Given the description of an element on the screen output the (x, y) to click on. 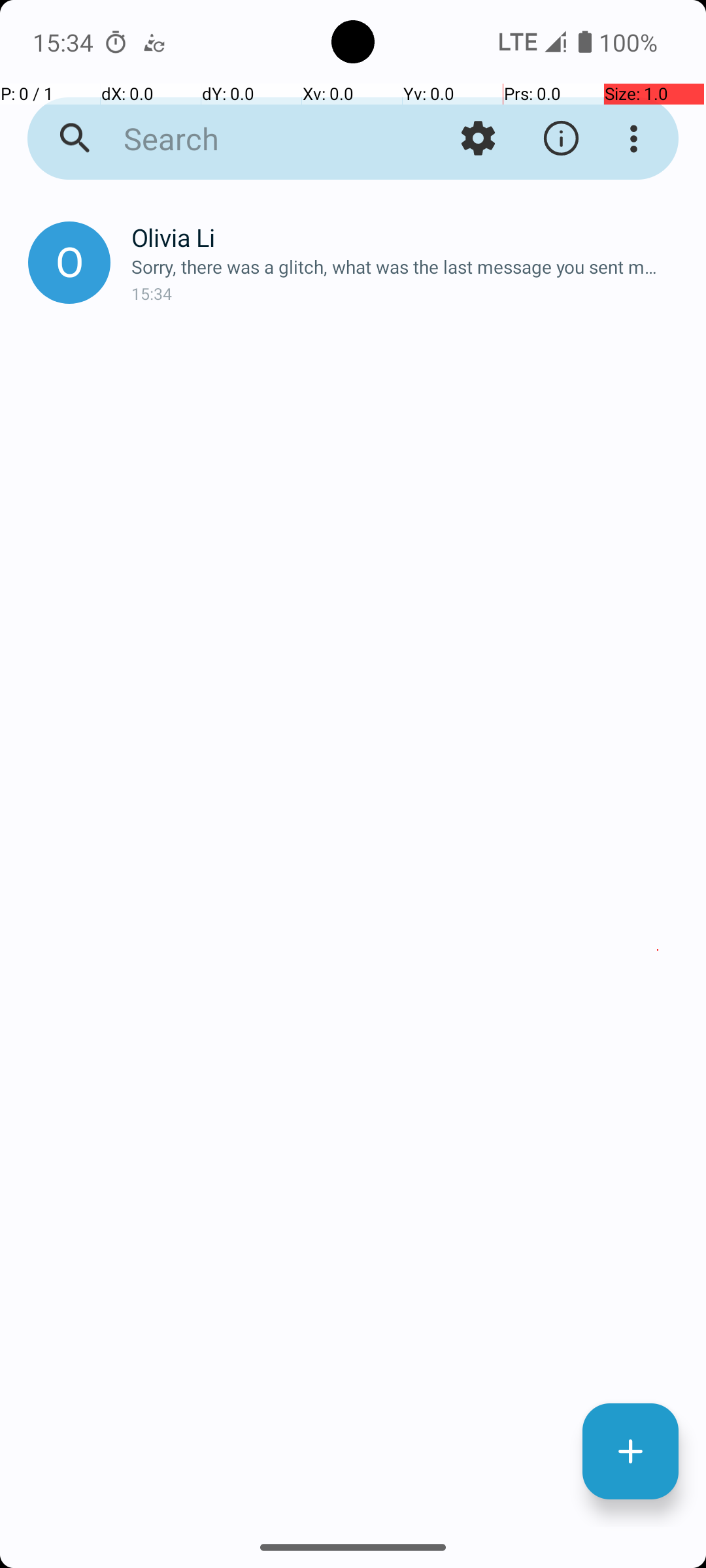
Olivia Li Element type: android.widget.TextView (408, 237)
